Given the description of an element on the screen output the (x, y) to click on. 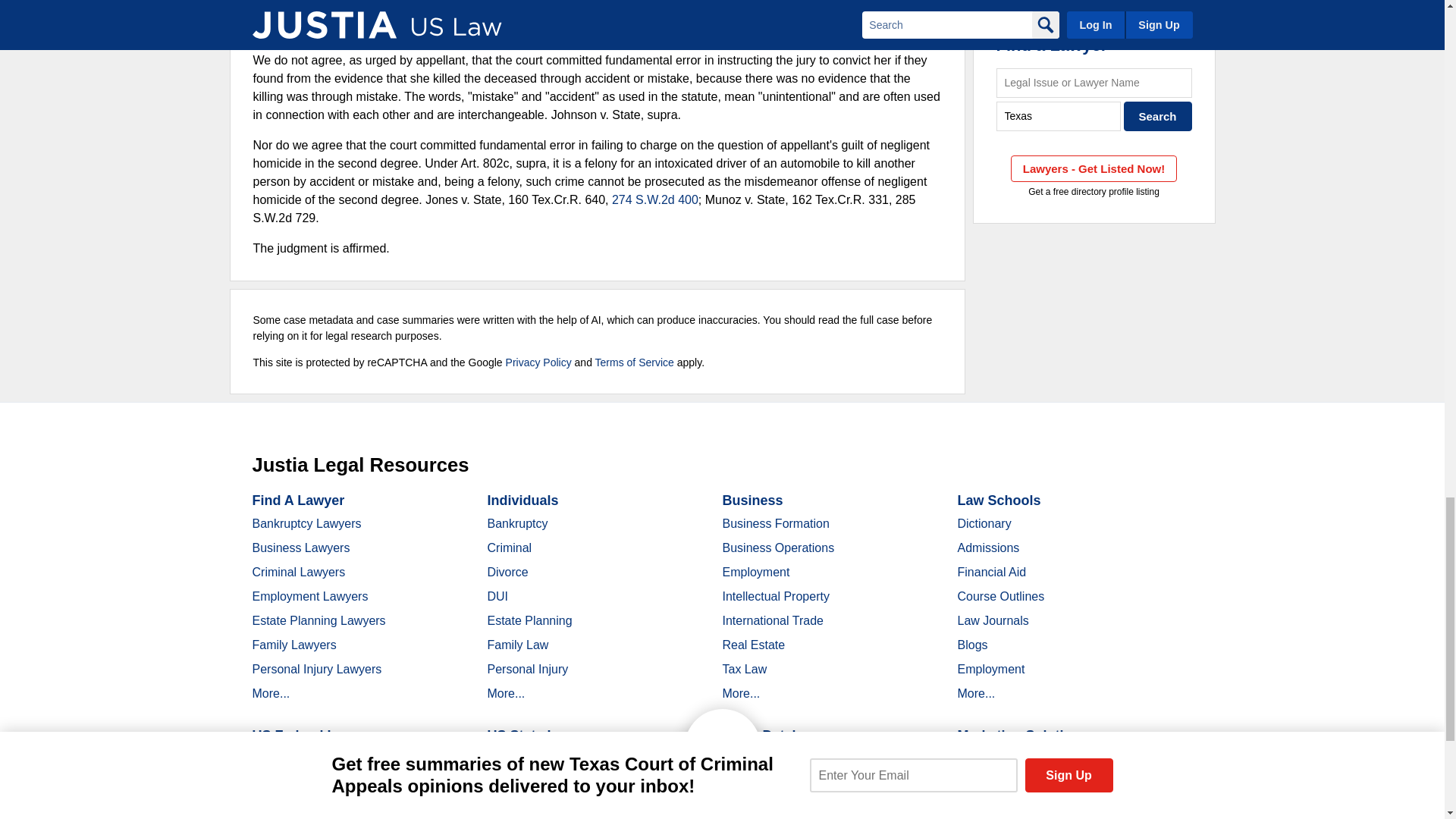
Search (1158, 116)
City, State (1058, 116)
Texas (1058, 116)
Privacy Policy (538, 362)
Terms of Service (634, 362)
Search (1158, 116)
Legal Issue or Lawyer Name (1093, 82)
274 S.W.2d 400 (654, 199)
